Given the description of an element on the screen output the (x, y) to click on. 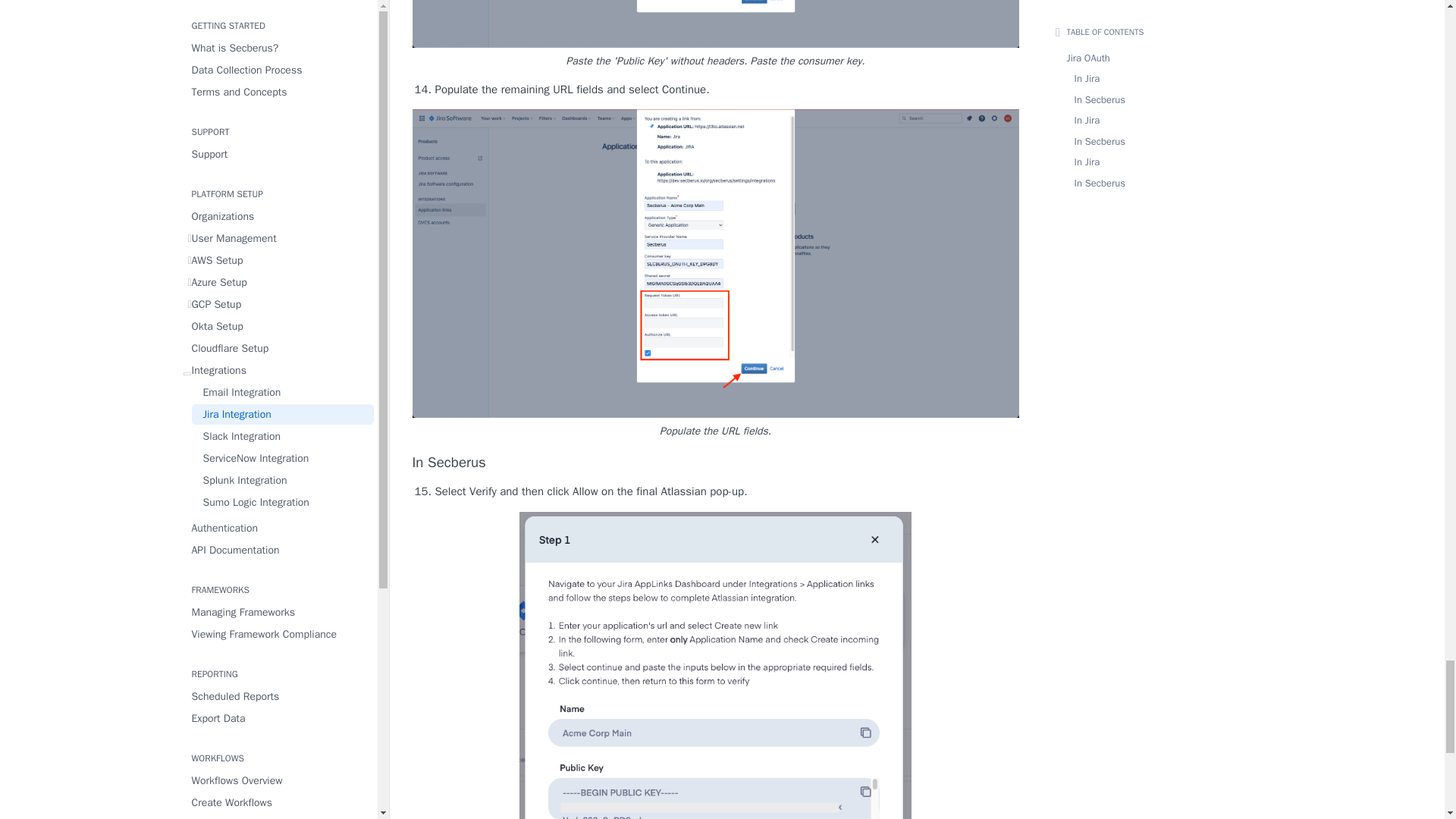
In Secberus (715, 462)
